Given the description of an element on the screen output the (x, y) to click on. 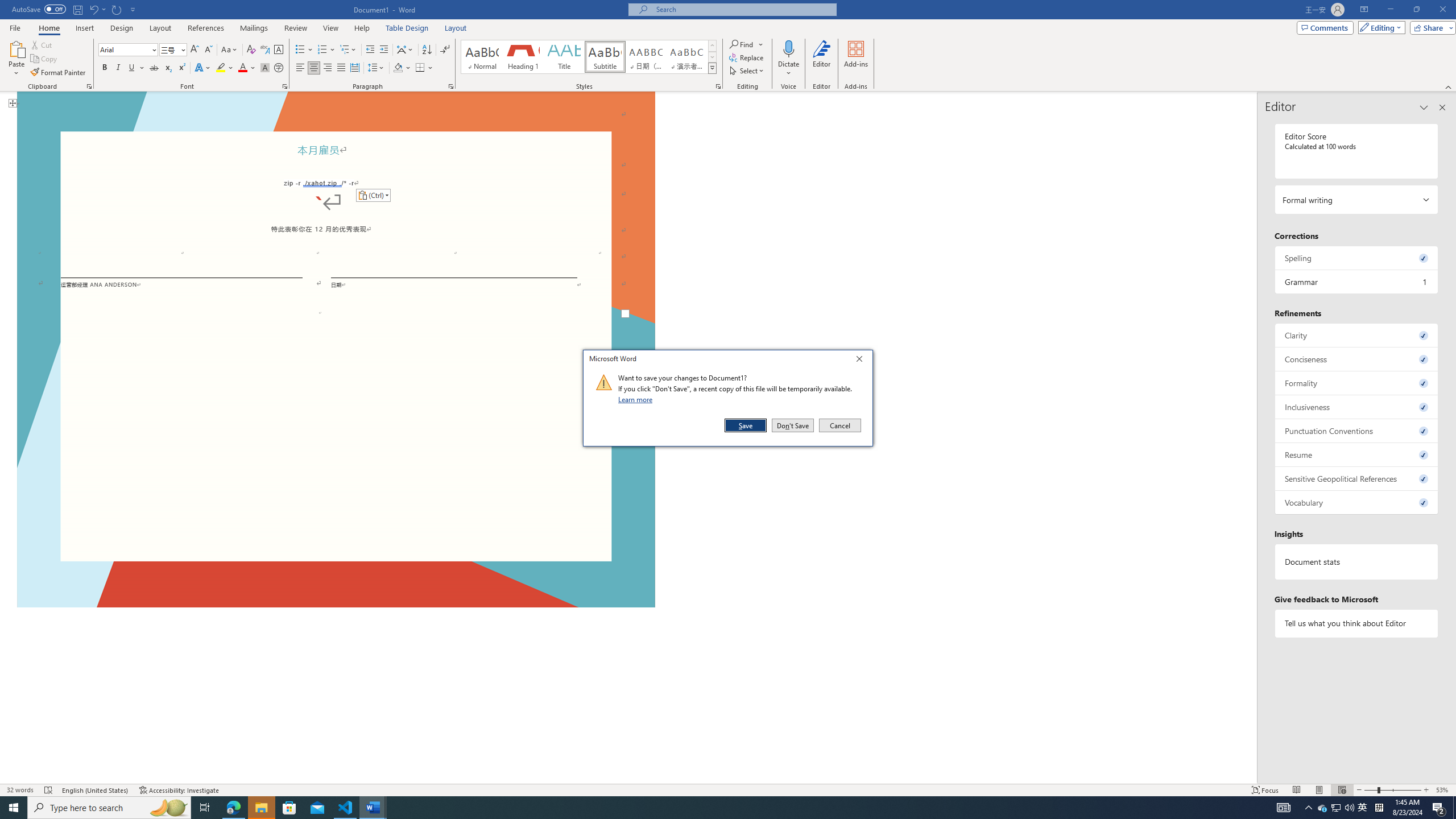
Word Count 32 words (19, 790)
